Given the description of an element on the screen output the (x, y) to click on. 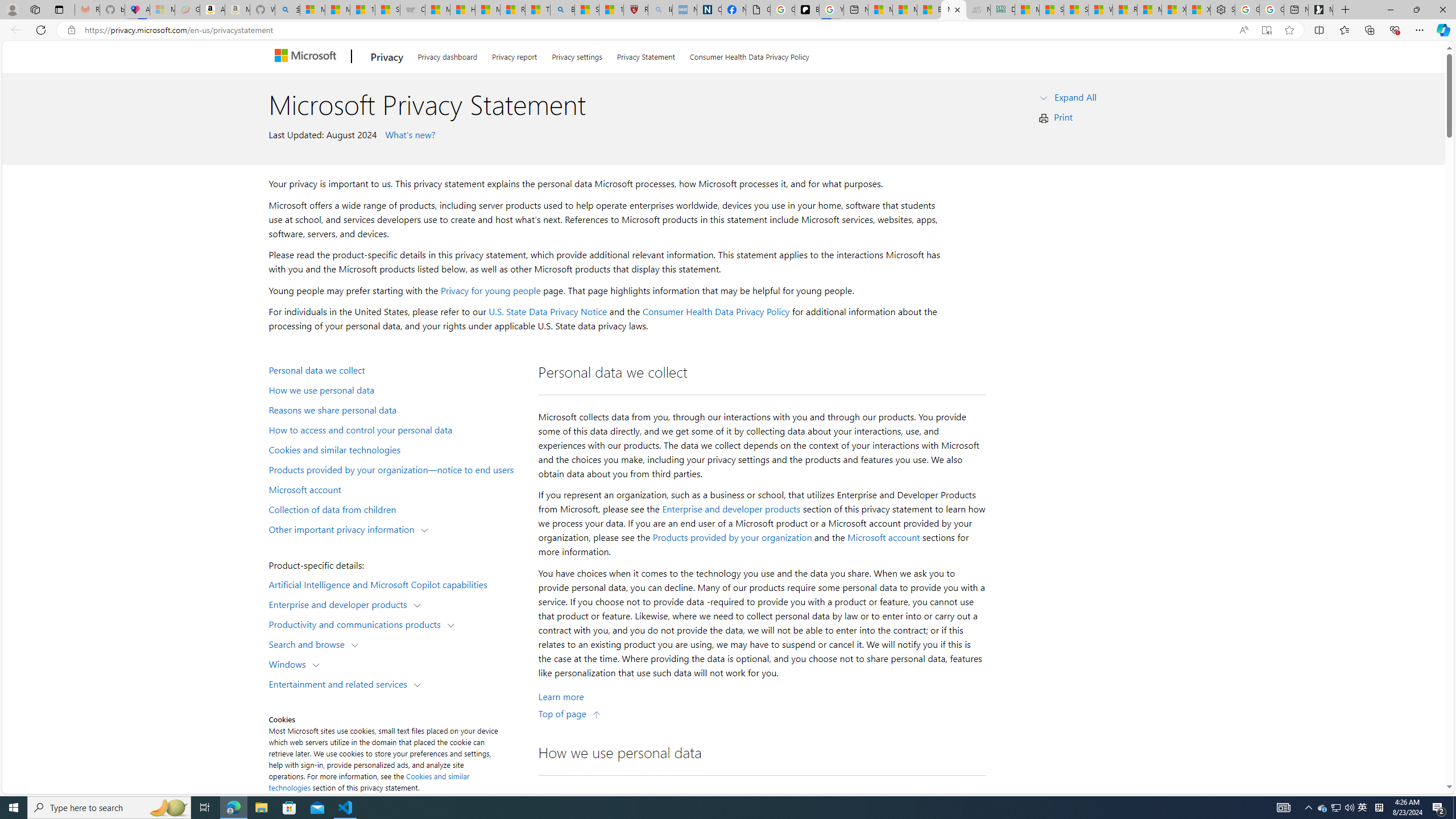
Windows (289, 663)
How we use personal data (395, 389)
Learn More about Personal data we collect (560, 696)
Entertainment and related services (340, 683)
